Given the description of an element on the screen output the (x, y) to click on. 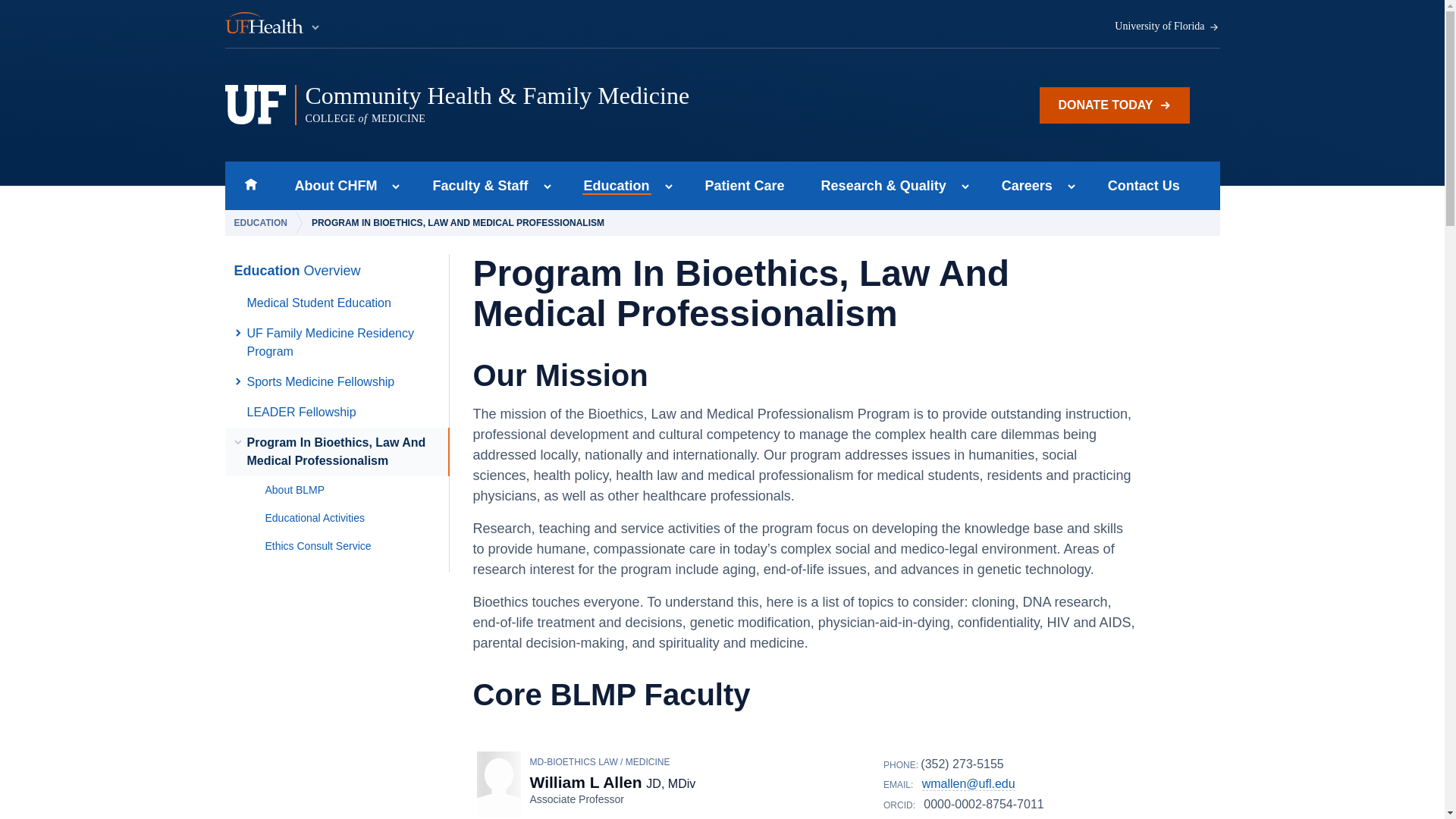
Home (250, 185)
DONATE TODAY (1114, 104)
UF Health (272, 24)
About CHFM (612, 185)
University of Florida (330, 185)
